Given the description of an element on the screen output the (x, y) to click on. 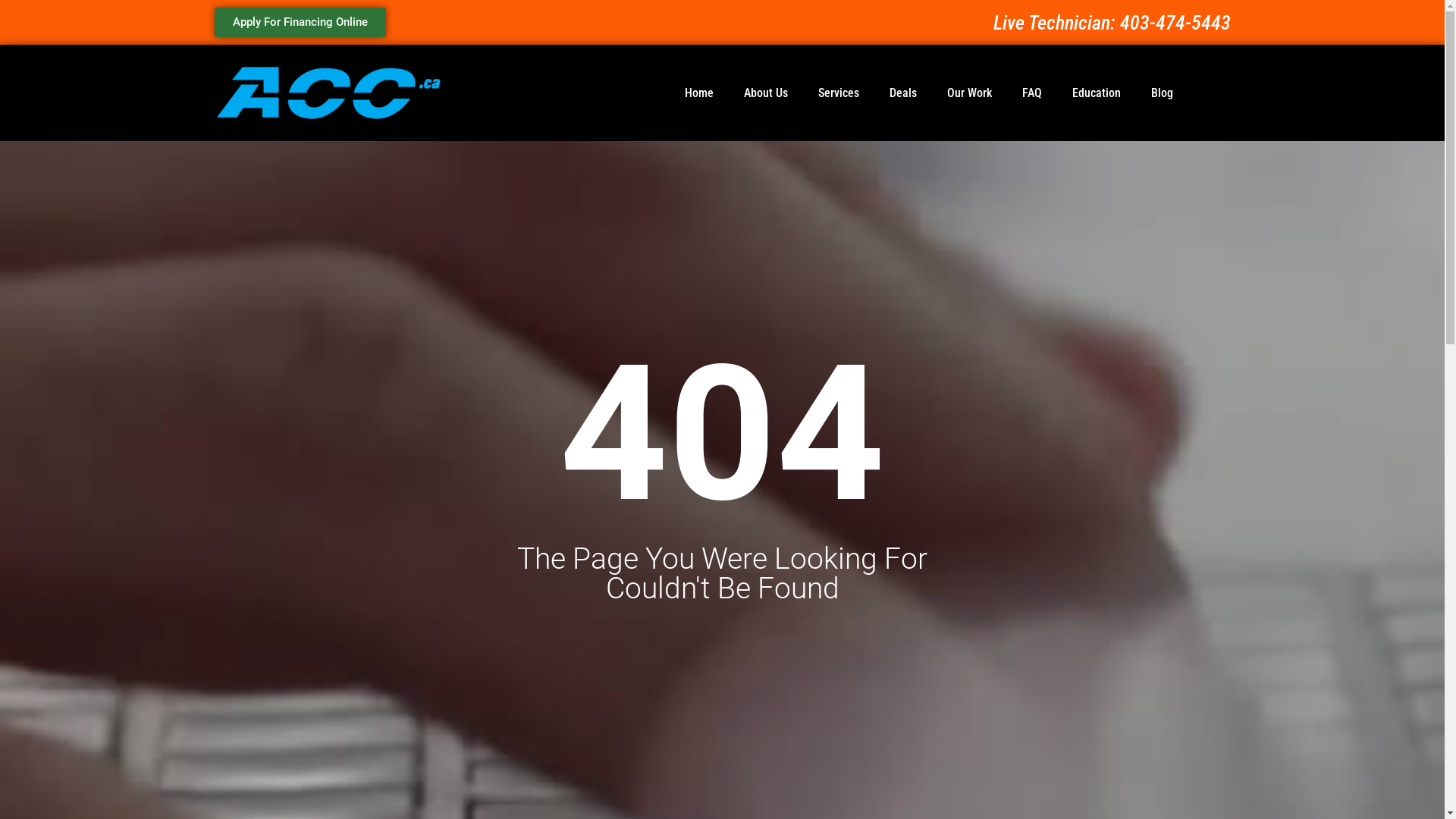
Services Element type: text (837, 92)
About Us Element type: text (765, 92)
Deals Element type: text (902, 92)
Apply For Financing Online Element type: text (299, 22)
Our Work Element type: text (968, 92)
Home Element type: text (698, 92)
Education Element type: text (1096, 92)
FAQ Element type: text (1032, 92)
Blog Element type: text (1161, 92)
Live Technician: 403-474-5443 Element type: text (1111, 21)
